Given the description of an element on the screen output the (x, y) to click on. 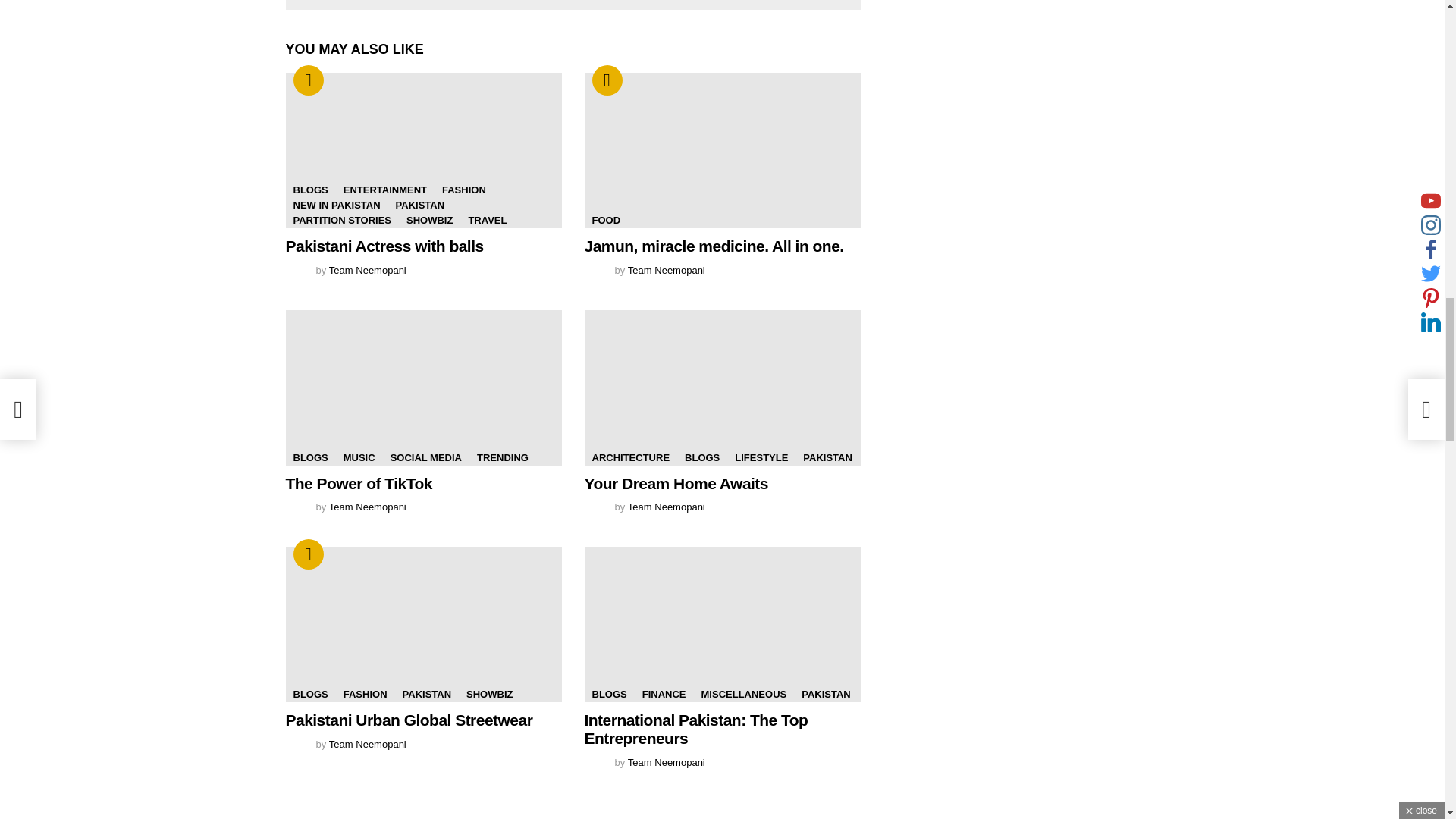
Posts by Team Neemopani (665, 270)
Hot (307, 80)
FASHION (463, 190)
Pakistani Actress with balls (384, 245)
Posts by Team Neemopani (367, 270)
PAKISTAN (420, 205)
BLOGS (309, 190)
NEW IN PAKISTAN (336, 205)
ENTERTAINMENT (384, 190)
Hot (606, 80)
